Given the description of an element on the screen output the (x, y) to click on. 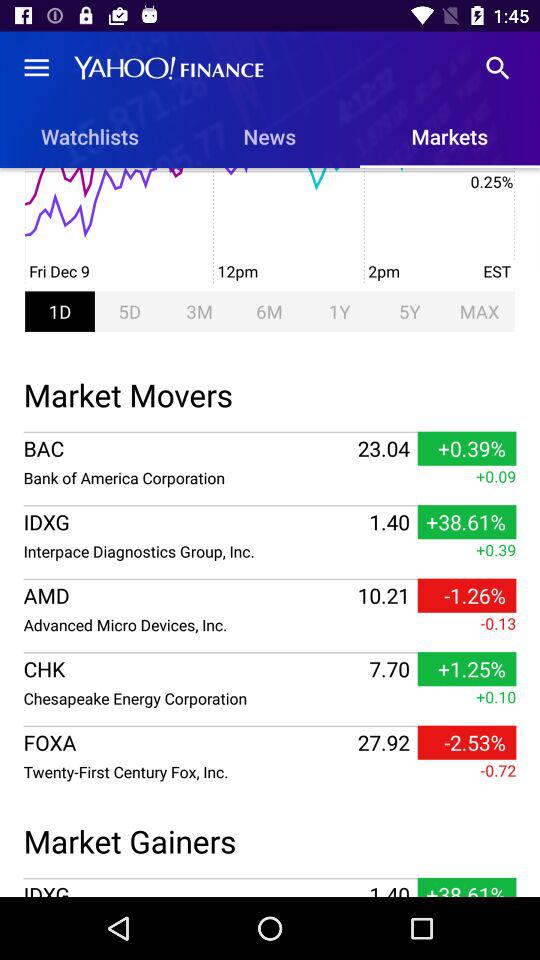
scroll to the market gainers item (270, 838)
